Given the description of an element on the screen output the (x, y) to click on. 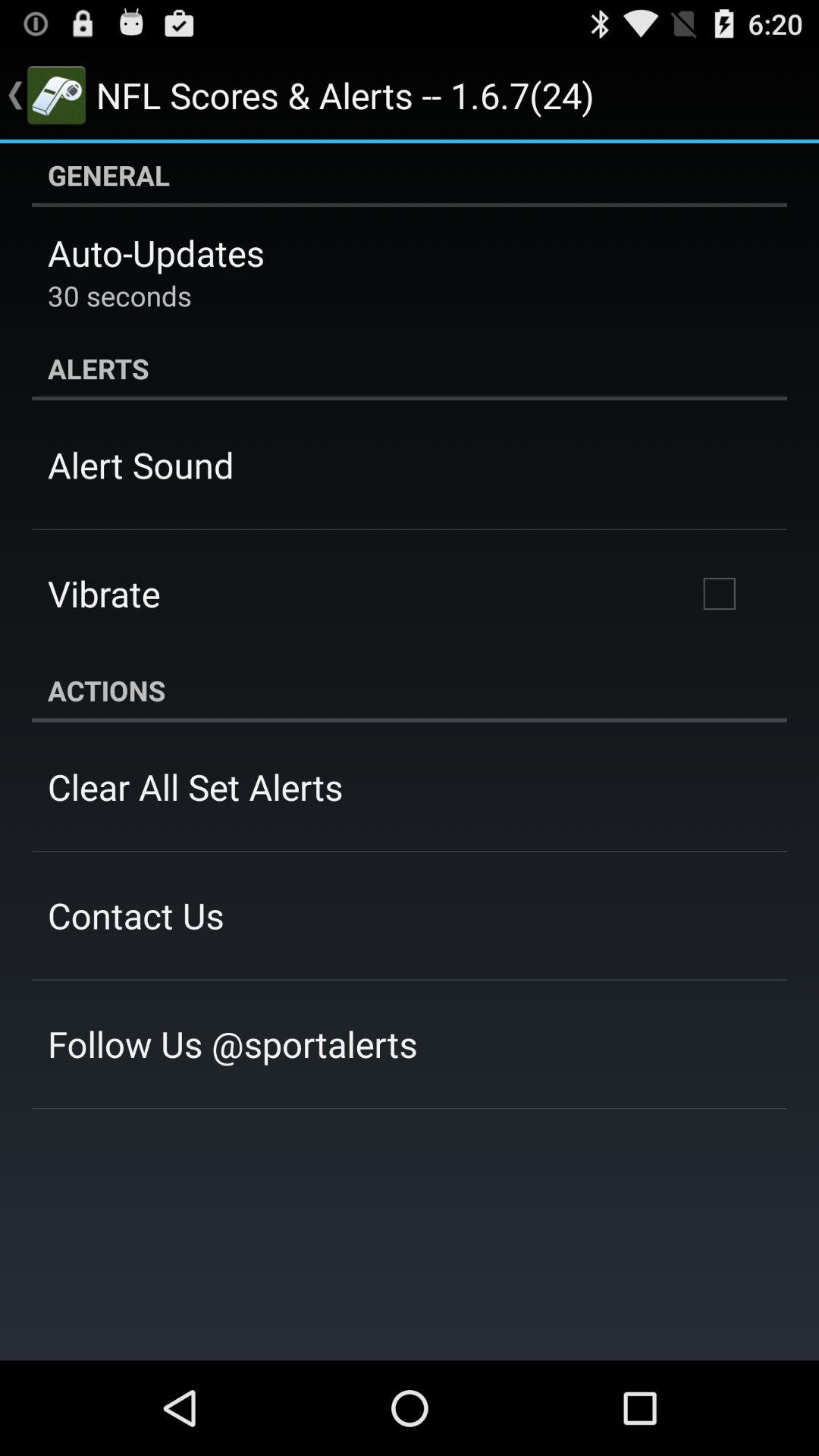
press alert sound icon (140, 464)
